Given the description of an element on the screen output the (x, y) to click on. 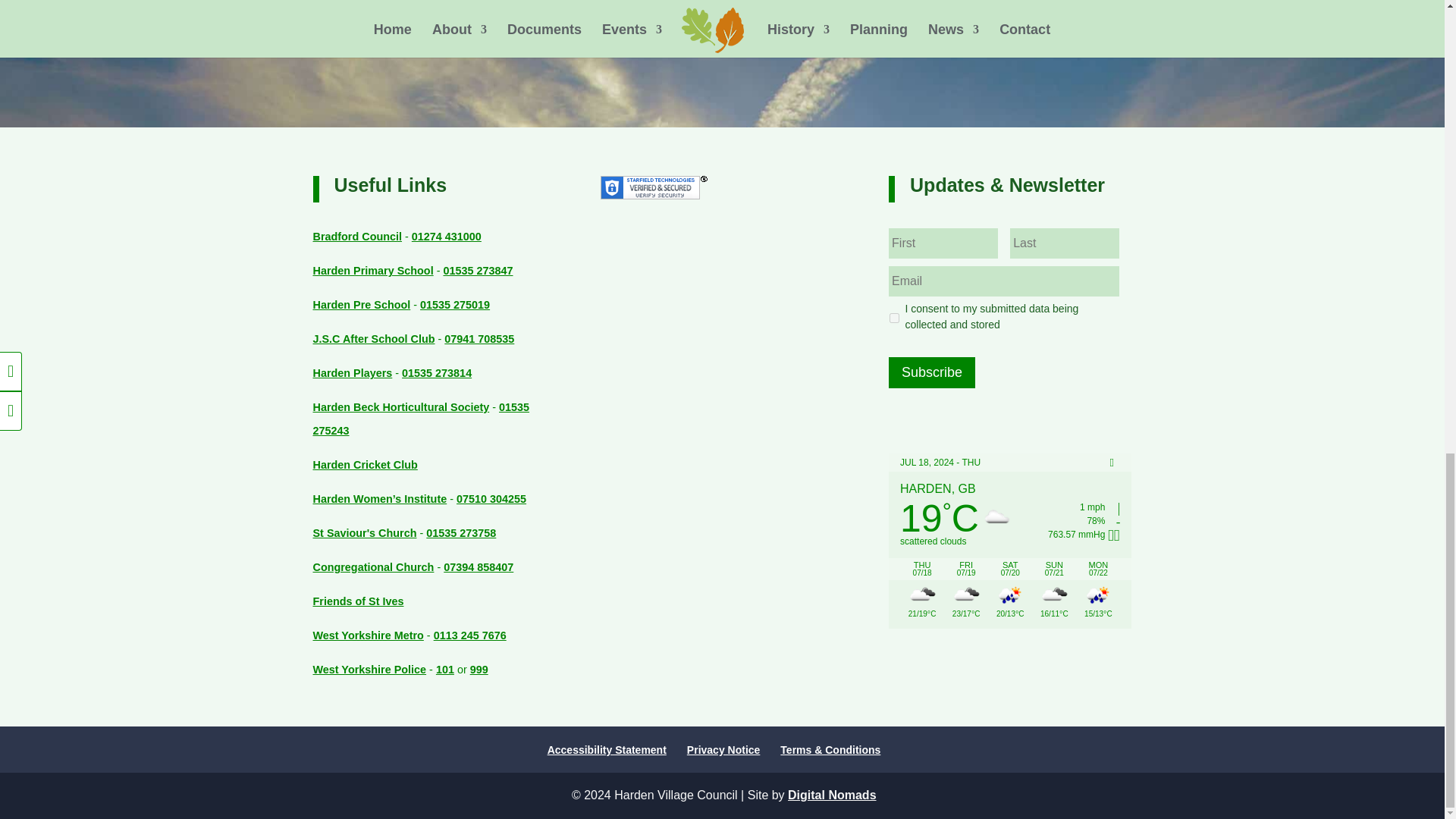
Subscribe (931, 372)
I consent to my submitted data being collected and stored (894, 317)
